Given the description of an element on the screen output the (x, y) to click on. 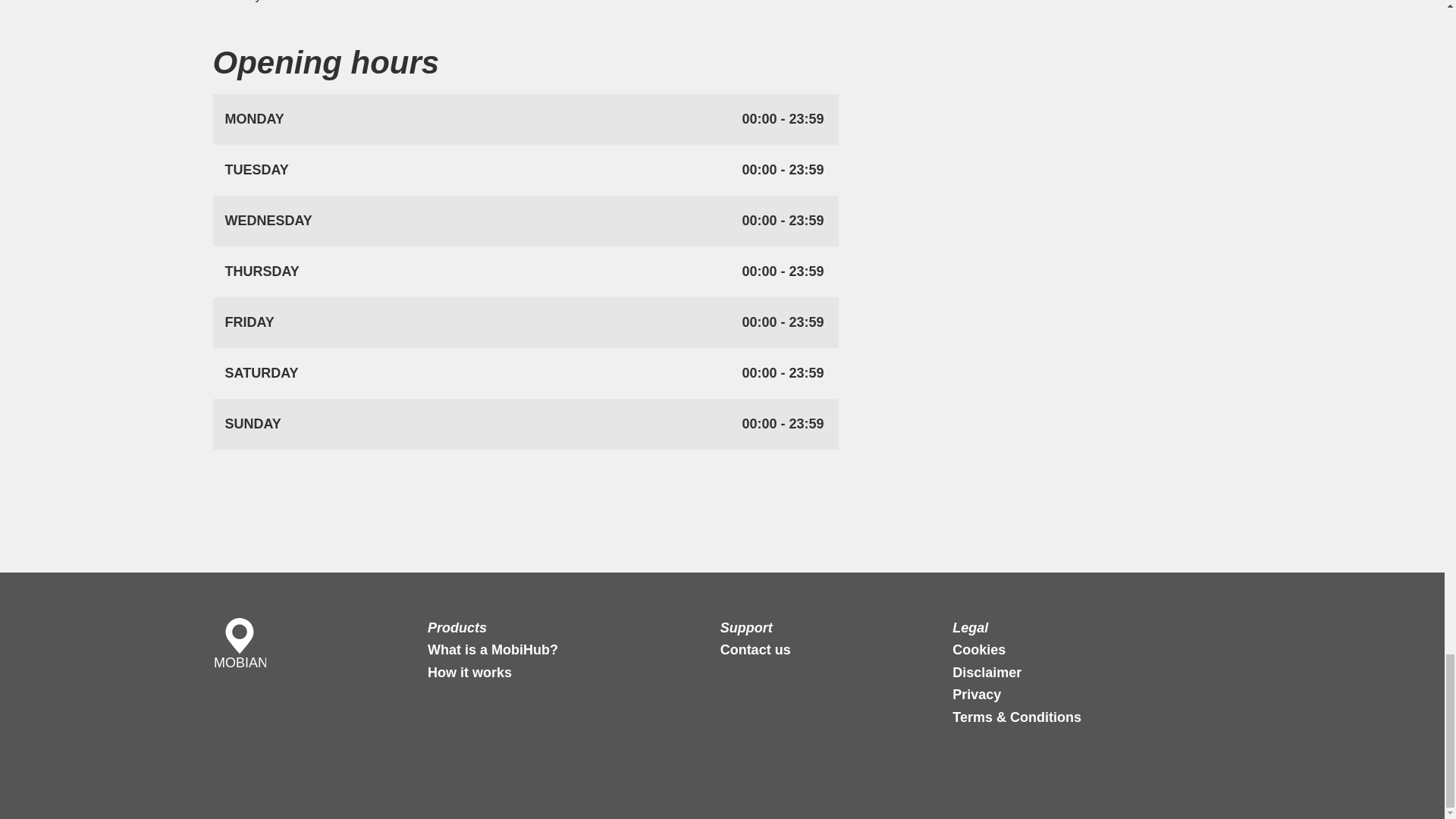
How it works (470, 672)
Contact us (755, 649)
What is a MobiHub? (492, 649)
Disclaimer (987, 672)
Cookies (979, 649)
Privacy (976, 694)
